Given the description of an element on the screen output the (x, y) to click on. 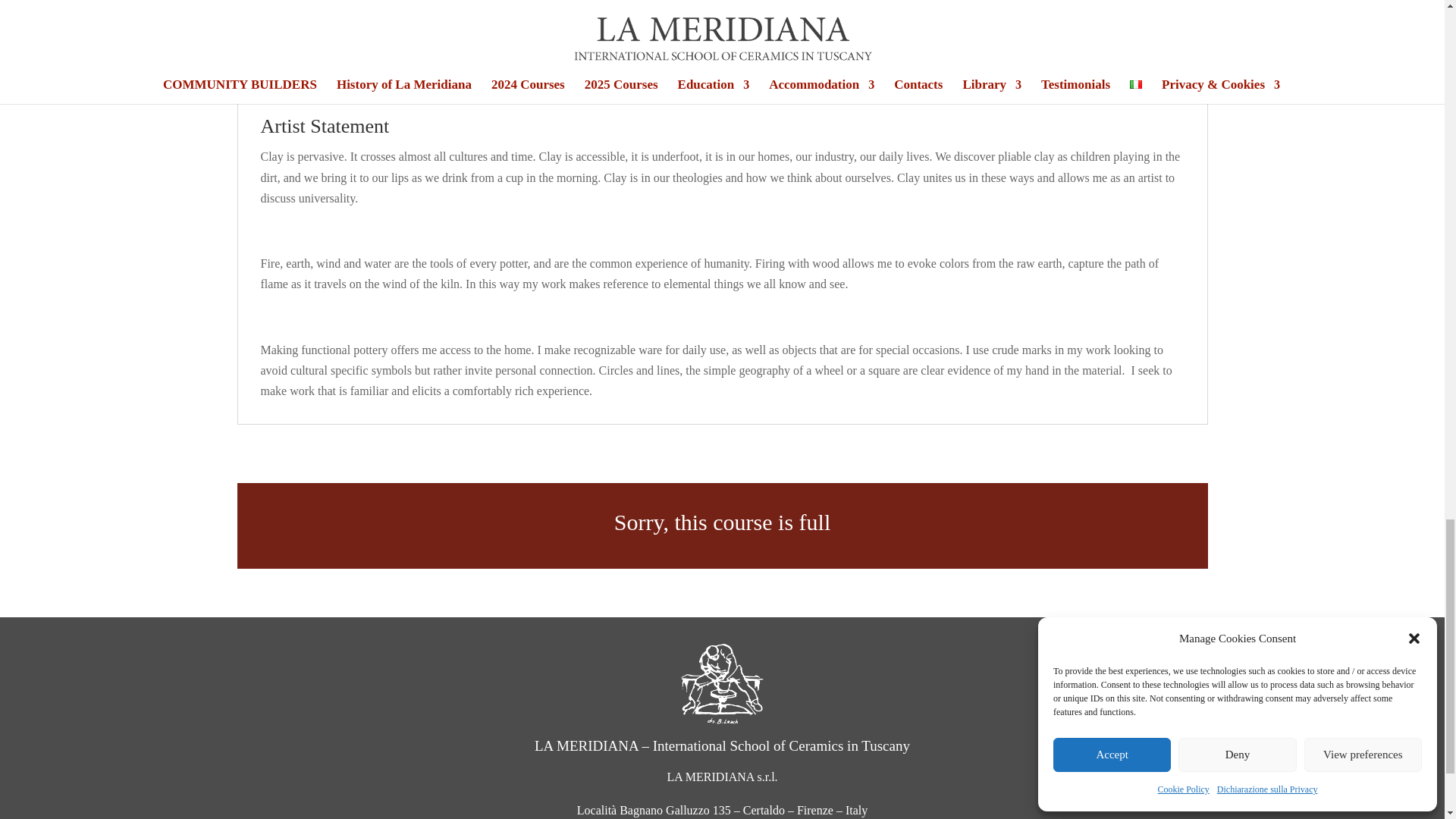
Logo Bianco (721, 683)
